Given the description of an element on the screen output the (x, y) to click on. 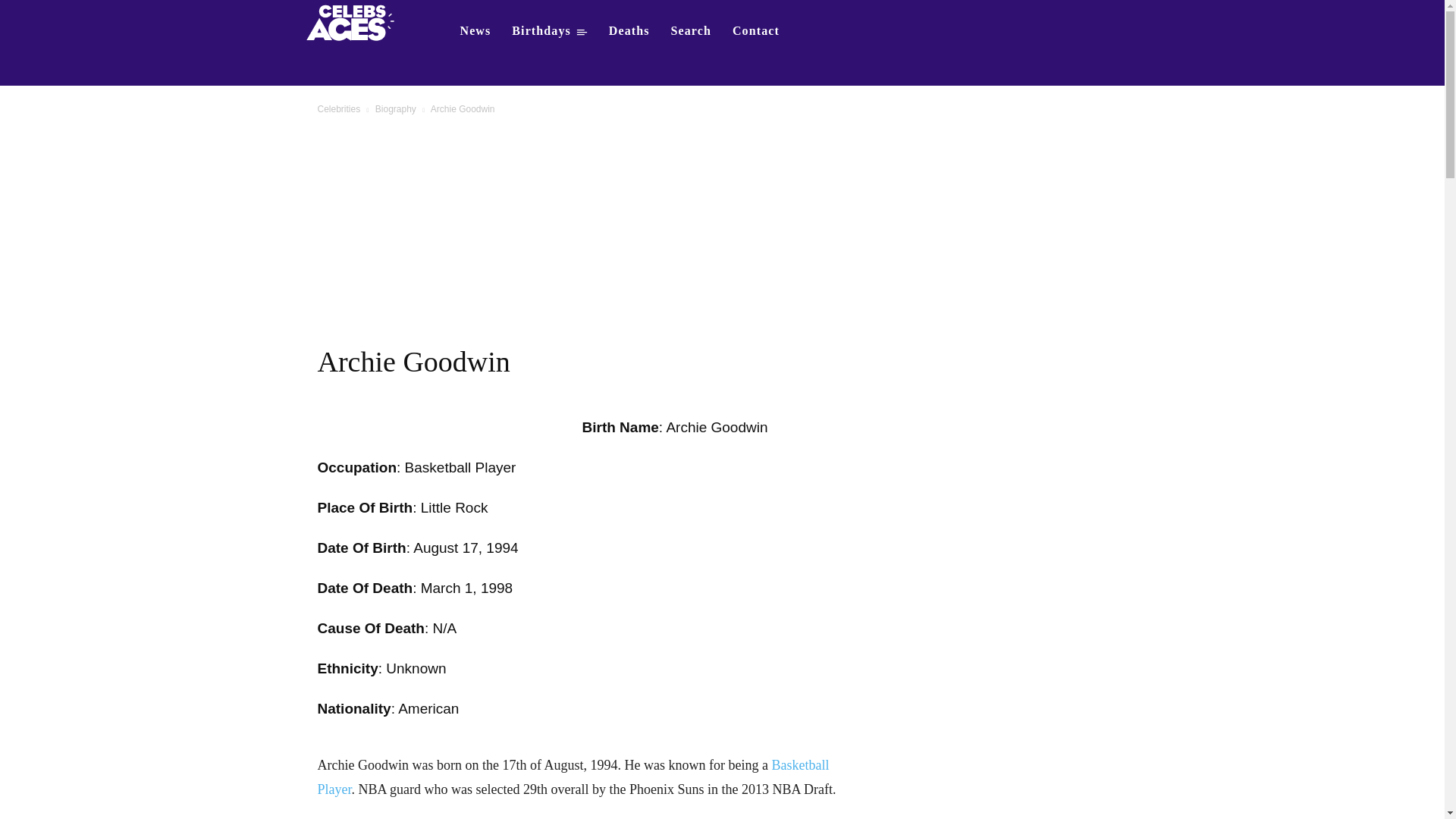
Celebrities (338, 109)
17 (471, 547)
August (435, 547)
News (474, 31)
Search (691, 31)
Deaths (629, 31)
1994 (502, 547)
Celebs News (474, 31)
Contact (756, 31)
Biography (395, 109)
Birthdays (548, 31)
Who is dating who (354, 21)
Basketball Player (572, 776)
